Given the description of an element on the screen output the (x, y) to click on. 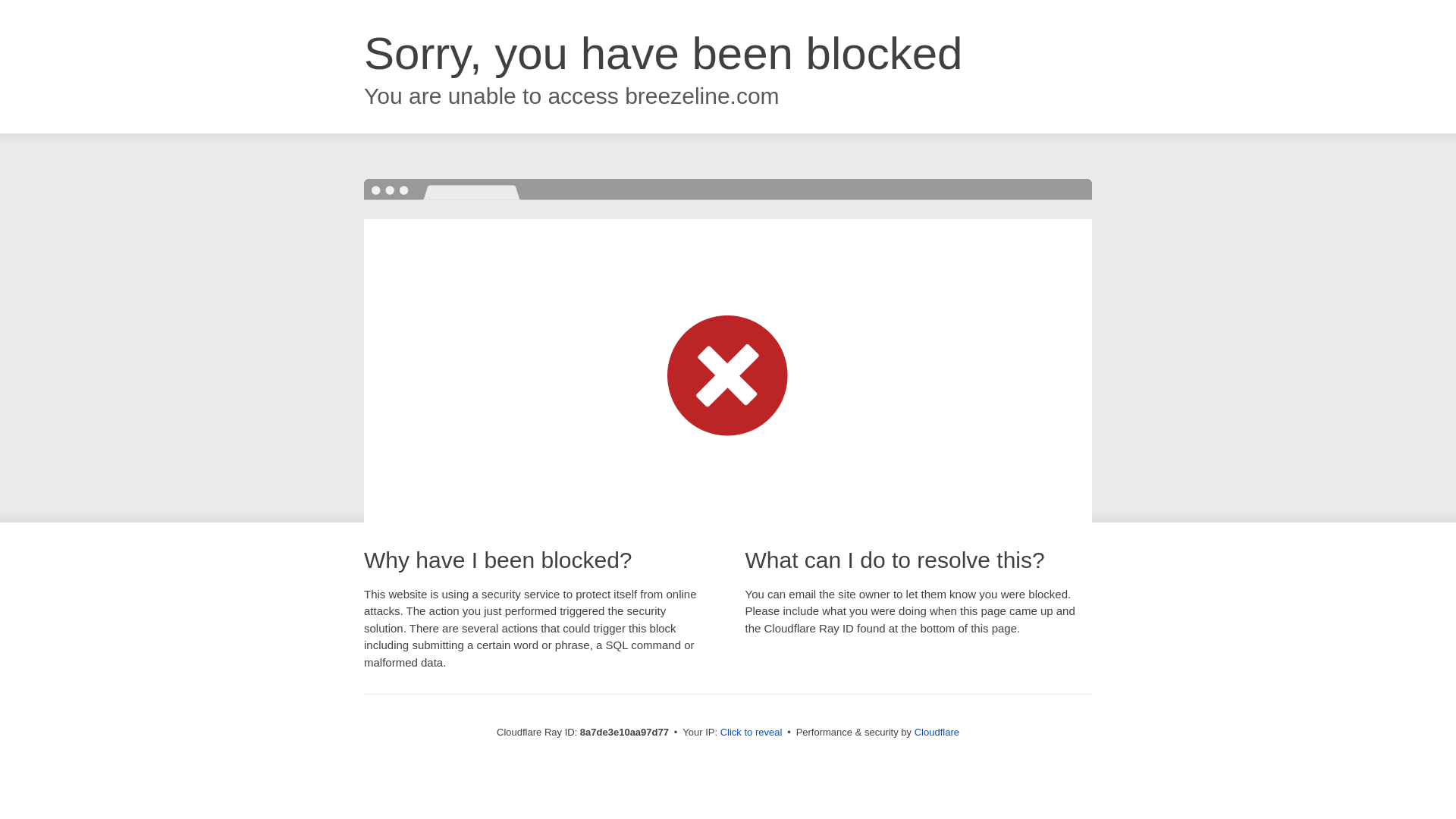
Click to reveal (751, 732)
Cloudflare (936, 731)
